Given the description of an element on the screen output the (x, y) to click on. 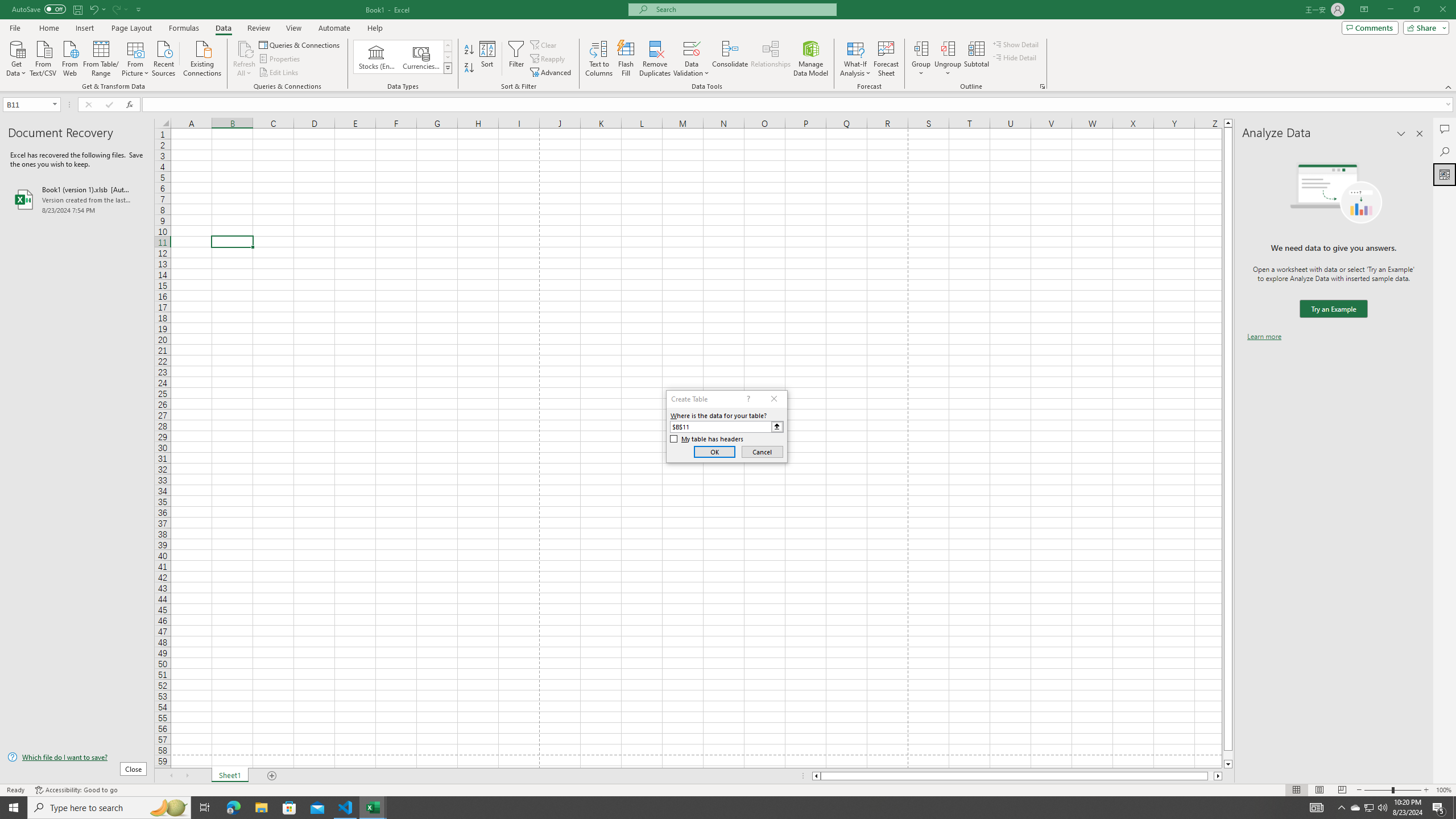
From Picture (135, 57)
